Given the description of an element on the screen output the (x, y) to click on. 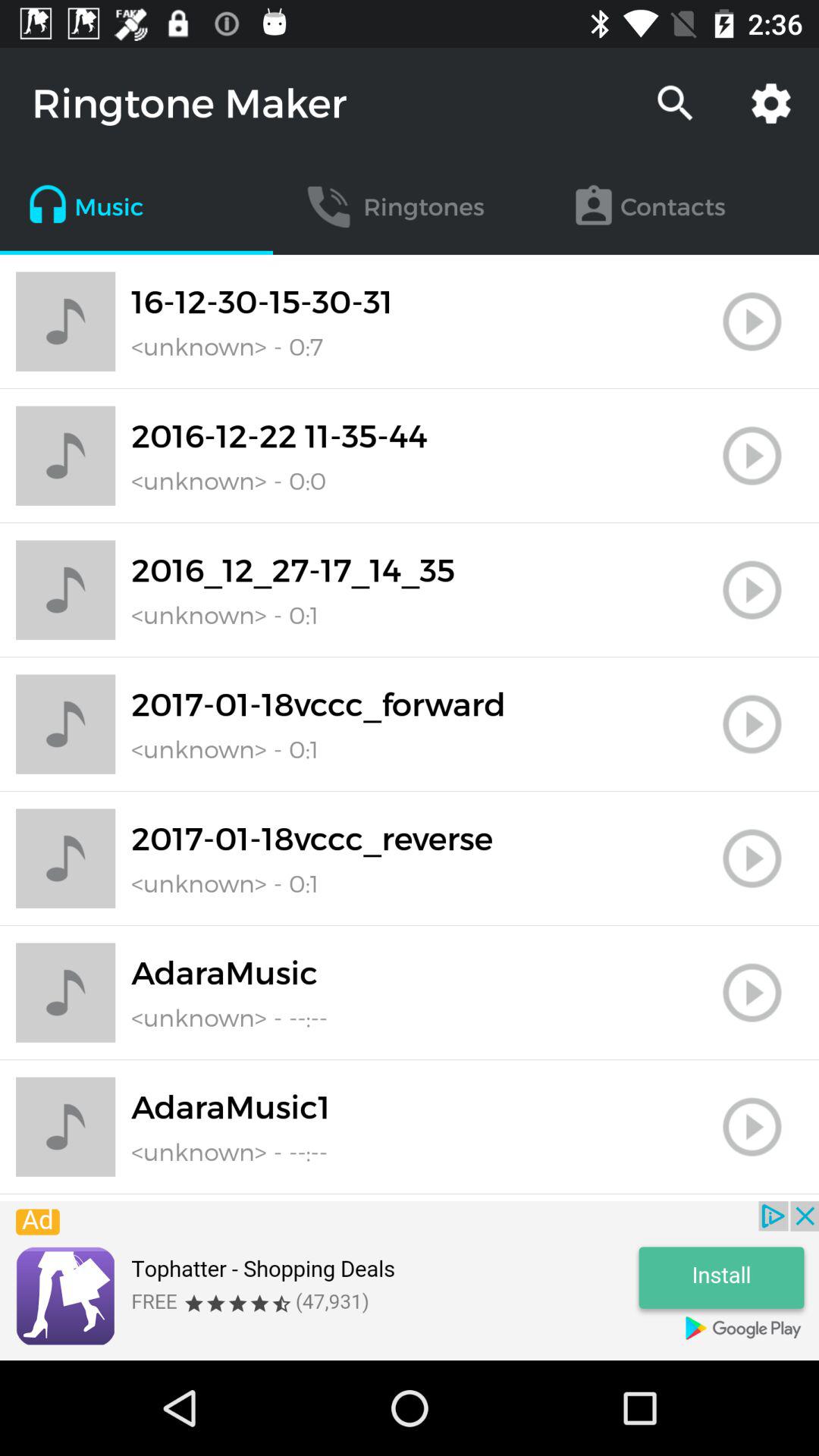
play file (752, 992)
